Given the description of an element on the screen output the (x, y) to click on. 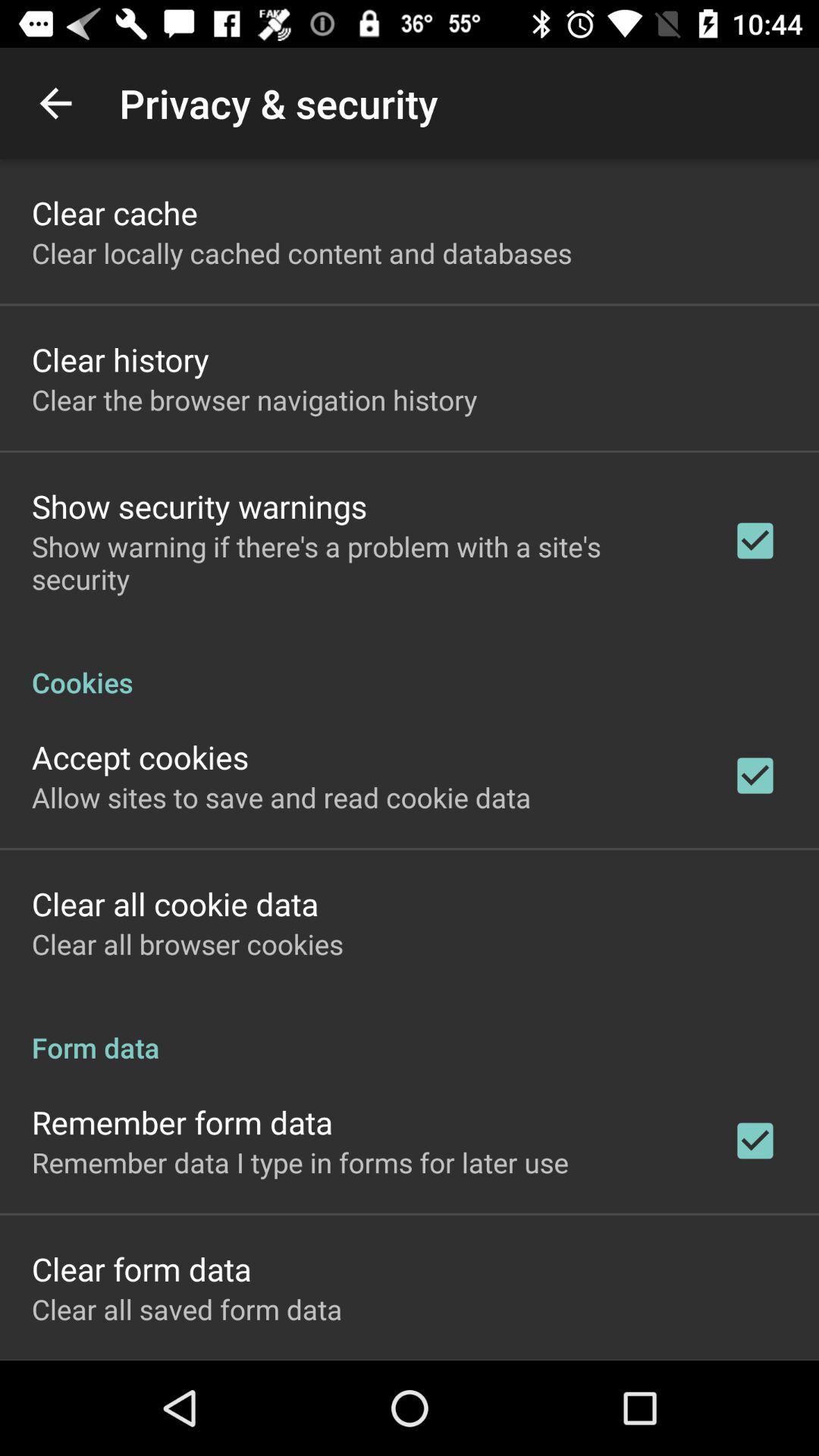
turn on the app below cookies (140, 756)
